Given the description of an element on the screen output the (x, y) to click on. 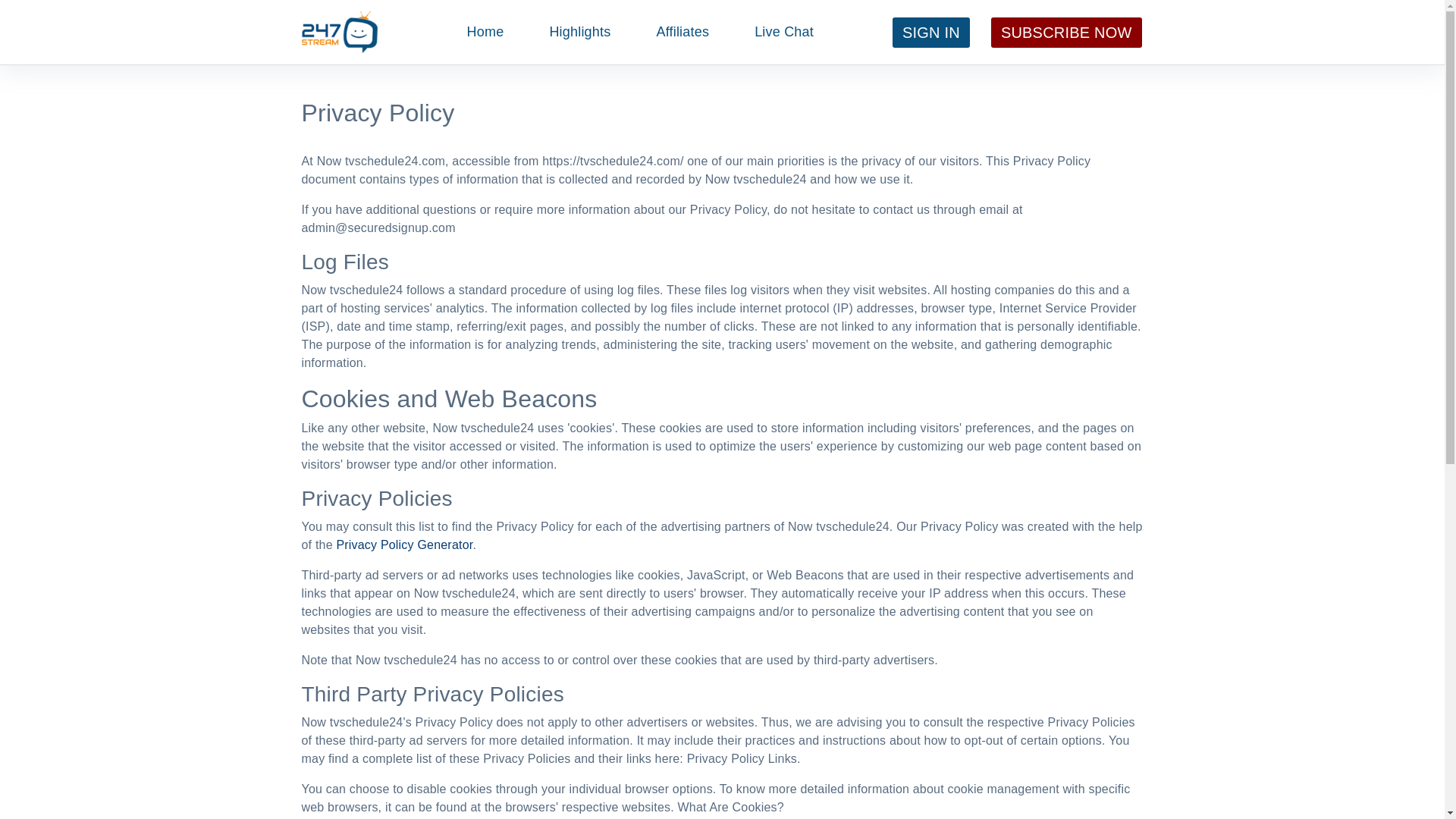
SUBSCRIBE NOW Element type: text (1066, 32)
Home Element type: text (485, 31)
Affiliates Element type: text (682, 31)
SIGN IN Element type: text (931, 32)
Highlights Element type: text (579, 31)
Live Chat Element type: text (783, 31)
Privacy Policy Generator Element type: text (403, 544)
